Given the description of an element on the screen output the (x, y) to click on. 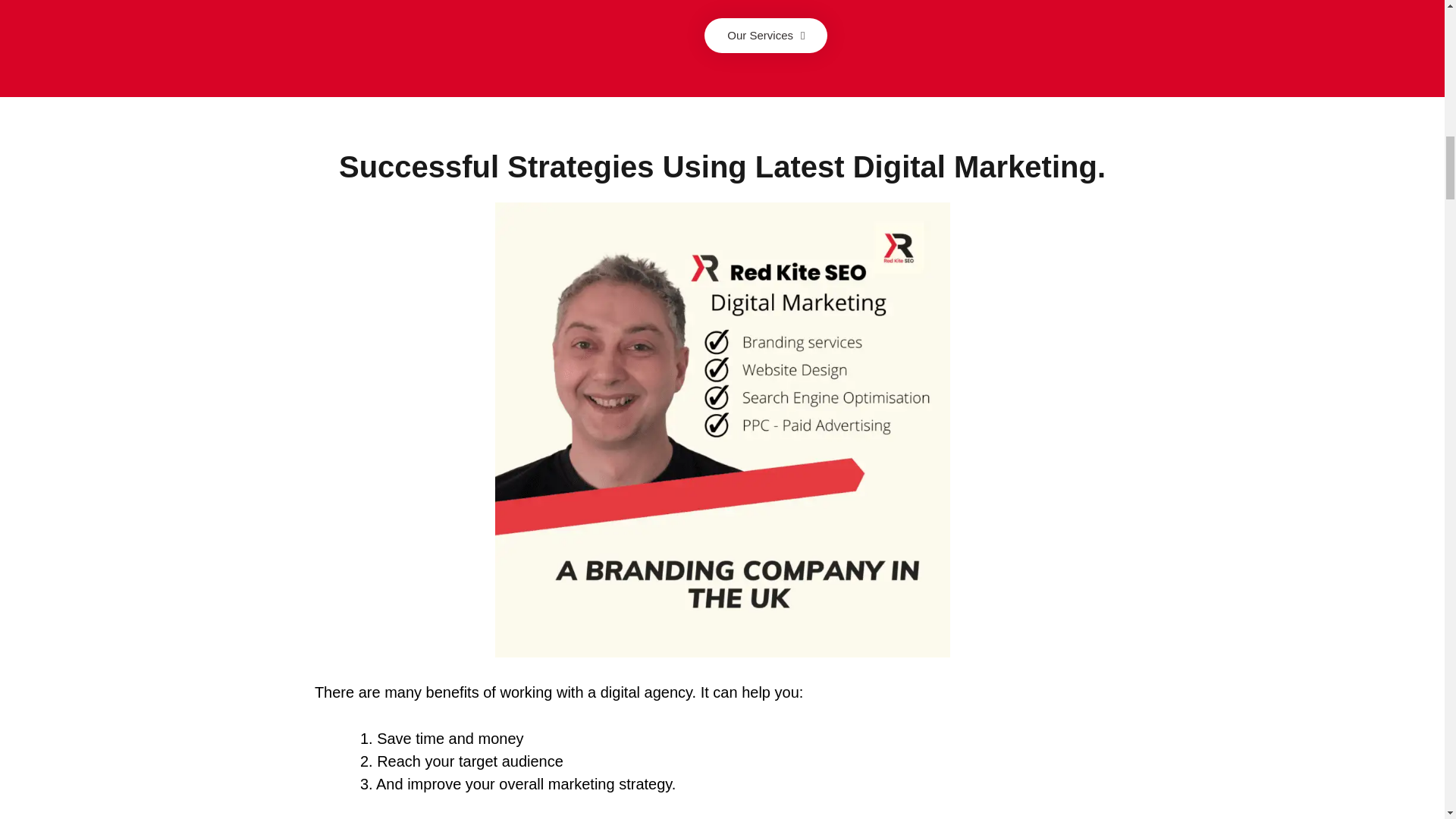
Our Services (765, 35)
